Given the description of an element on the screen output the (x, y) to click on. 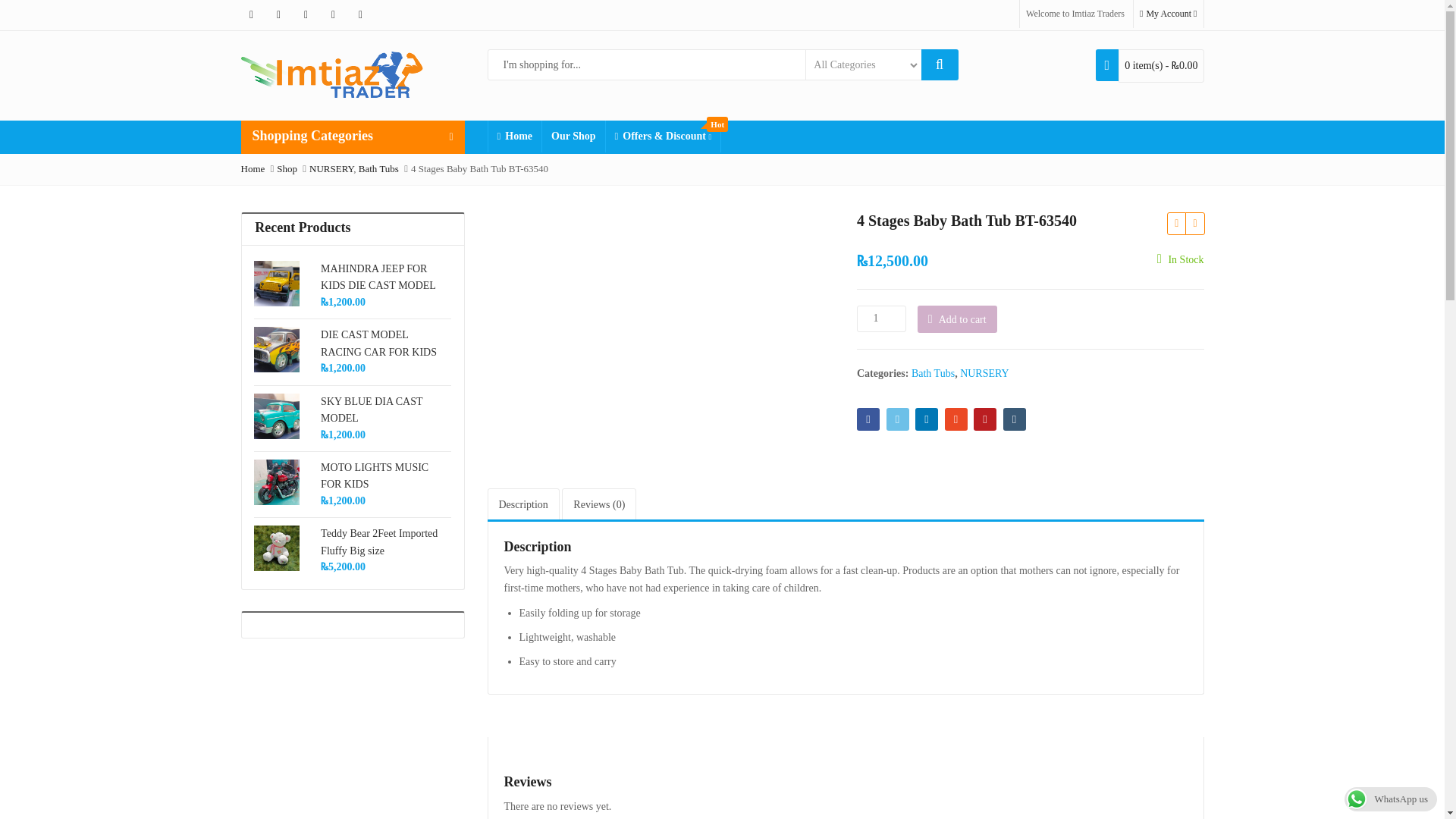
1 (881, 318)
Go to Home Page (252, 168)
Share on Twitter (896, 418)
Share on Facebook (868, 418)
Qty (881, 318)
